Given the description of an element on the screen output the (x, y) to click on. 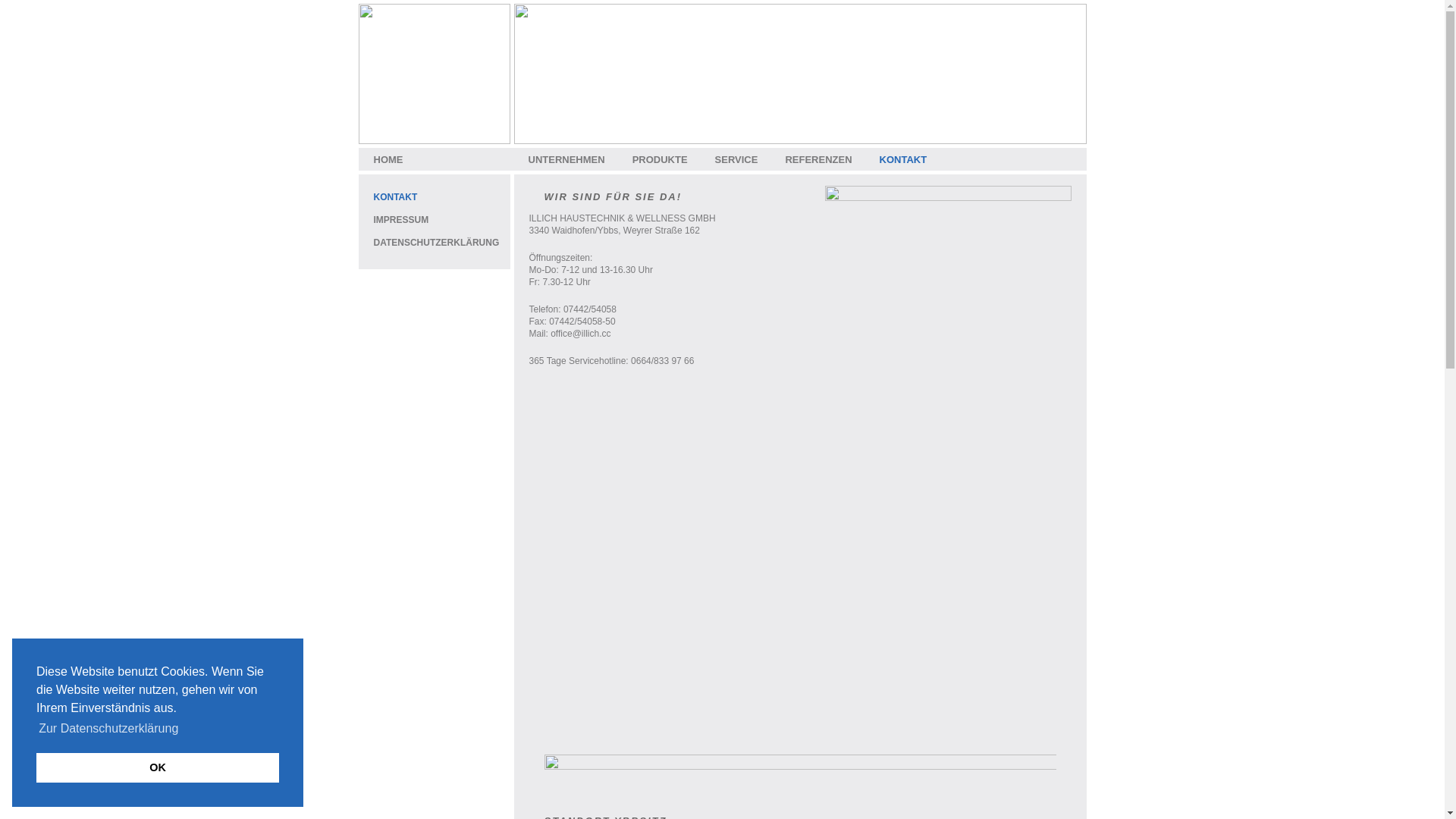
KONTAKT Element type: text (395, 196)
SERVICE Element type: text (736, 159)
KONTAKT Element type: text (903, 159)
0664/833 97 66 Element type: text (661, 360)
PRODUKTE Element type: text (659, 159)
UNTERNEHMEN Element type: text (565, 159)
IMPRESSUM Element type: text (400, 219)
OK Element type: text (157, 767)
REFERENZEN Element type: text (817, 159)
office@illich.cc Element type: text (580, 333)
07442/54058 Element type: text (589, 309)
HOME Element type: text (387, 159)
